Given the description of an element on the screen output the (x, y) to click on. 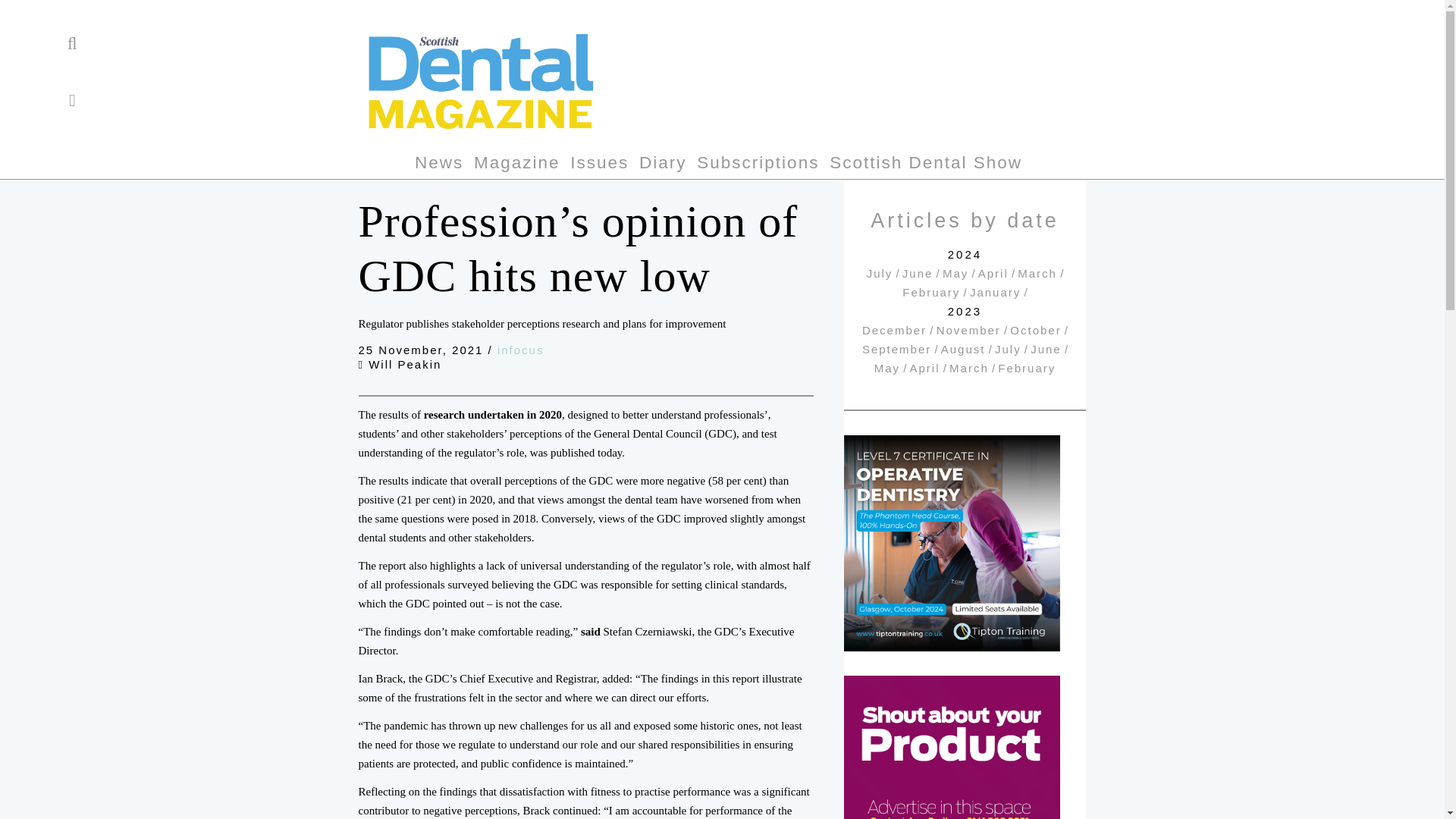
Upcoming events in the dental calendar (663, 166)
2023 (964, 310)
Magazine (517, 166)
September (896, 349)
June (917, 273)
December (893, 329)
research undertaken in 2020 (492, 414)
May (887, 367)
June (1045, 349)
March (968, 367)
August (962, 349)
October (1035, 329)
February (1026, 367)
News (438, 166)
Diary (663, 166)
